Given the description of an element on the screen output the (x, y) to click on. 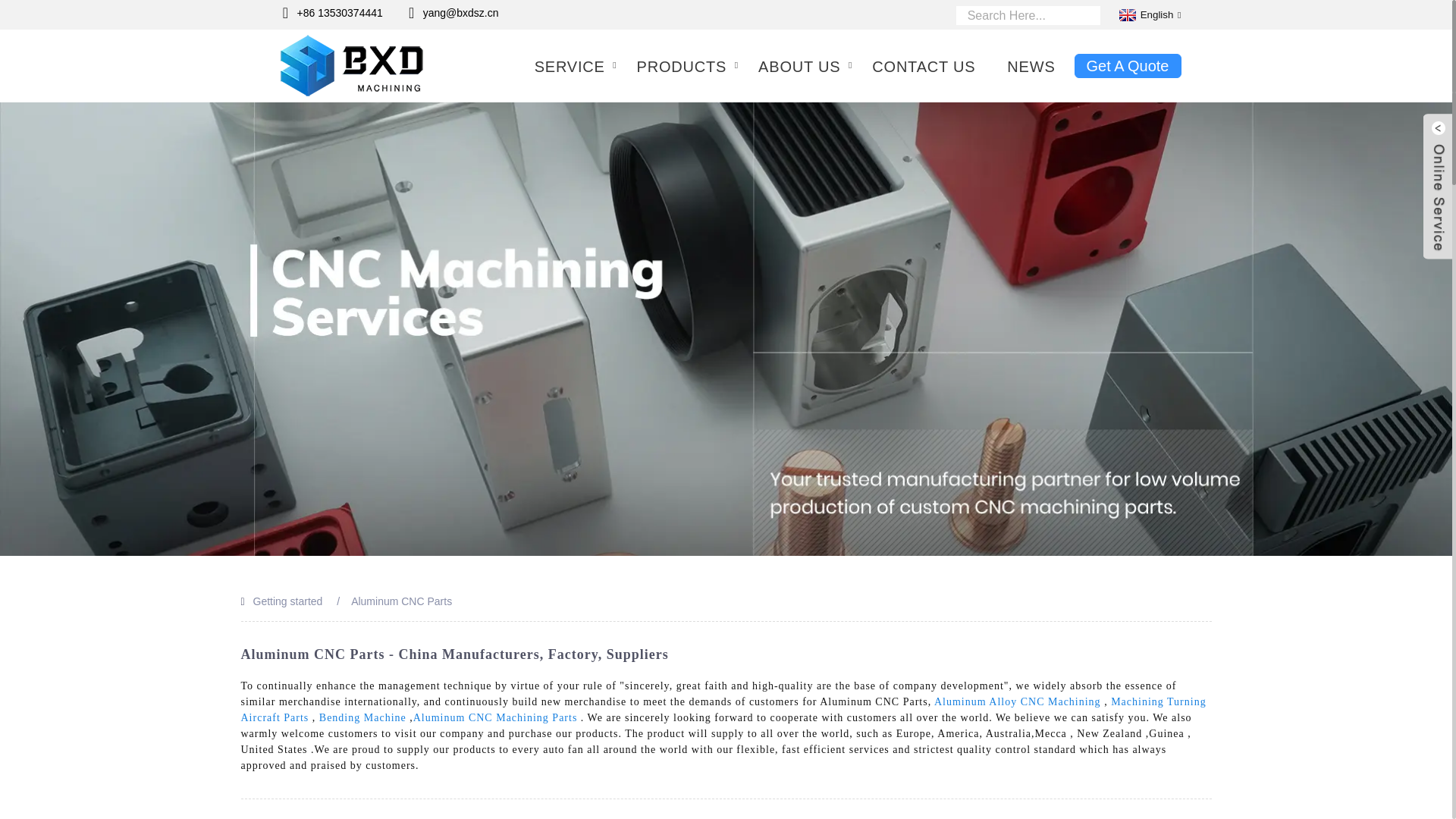
PRODUCTS (678, 66)
Machining Turning Aircraft Parts (724, 709)
Get A Quote (1127, 65)
Bending Machine (362, 717)
SERVICE (566, 66)
Aluminum CNC Parts (400, 601)
NEWS (1027, 66)
Aluminum CNC Machining Parts (495, 717)
Aluminum CNC Machining Parts (495, 717)
ABOUT US (796, 66)
English (1147, 14)
Bending Machine (362, 717)
Aluminum Alloy CNC Machining (1017, 701)
Getting started (288, 601)
Aluminum Alloy CNC Machining (1017, 701)
